Given the description of an element on the screen output the (x, y) to click on. 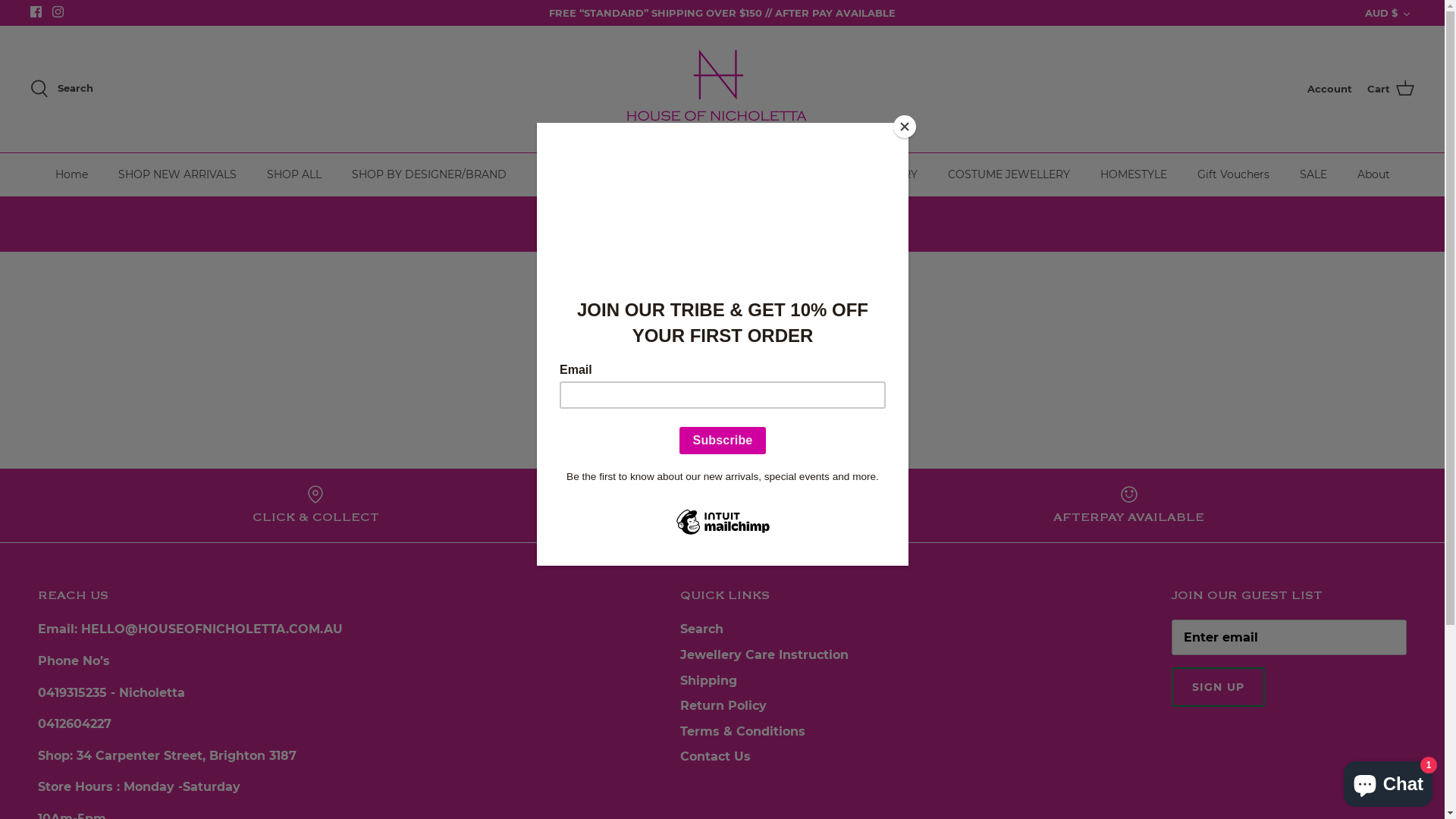
CLOTHING Element type: text (565, 174)
Terms & Conditions Element type: text (741, 731)
Search Element type: text (700, 628)
try a search Element type: text (865, 383)
Home Element type: text (70, 174)
FINE JEWELLERY Element type: text (871, 174)
Return Policy Element type: text (722, 705)
House of Nicholetta Element type: hover (721, 88)
Cart Element type: text (1390, 88)
home page Element type: text (771, 383)
SHOP BY DESIGNER/BRAND Element type: text (429, 174)
SIGN UP Element type: text (1217, 686)
SHOP ALL Element type: text (294, 174)
Label
NEW STYLES Element type: text (586, 504)
HELLO@HOUSEOFNICHOLETTA.COM.AU Element type: text (211, 628)
Search Element type: text (61, 88)
SALE Element type: text (1313, 174)
About Element type: text (1373, 174)
Shipping Element type: text (707, 680)
0419315235 Element type: text (71, 692)
SHOP NEW ARRIVALS Element type: text (177, 174)
Jewellery Care Instruction Element type: text (763, 654)
Facebook Element type: text (35, 11)
COSTUME JEWELLERY Element type: text (1008, 174)
Instagram Element type: text (57, 11)
Account Element type: text (1329, 89)
GIFT CARDS Element type: text (858, 504)
Contact Us Element type: text (714, 756)
Gift Vouchers Element type: text (1232, 174)
OTHER FASHION ACCESSORIES Element type: text (708, 174)
Shopify online store chat Element type: hover (1388, 780)
AUD $
Down Element type: text (1389, 12)
HOMESTYLE Element type: text (1132, 174)
